Given the description of an element on the screen output the (x, y) to click on. 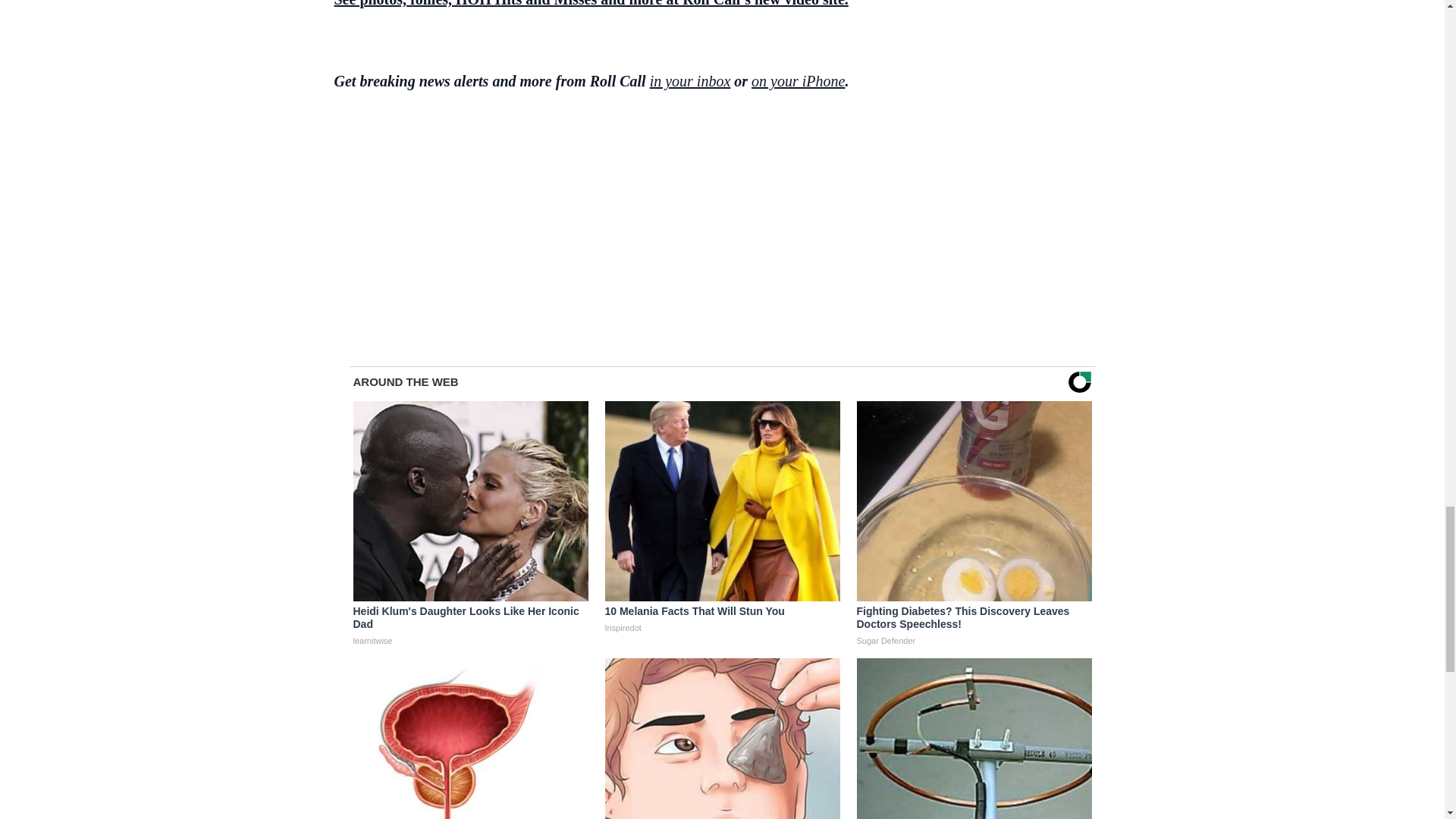
3rd party ad content (721, 207)
